Given the description of an element on the screen output the (x, y) to click on. 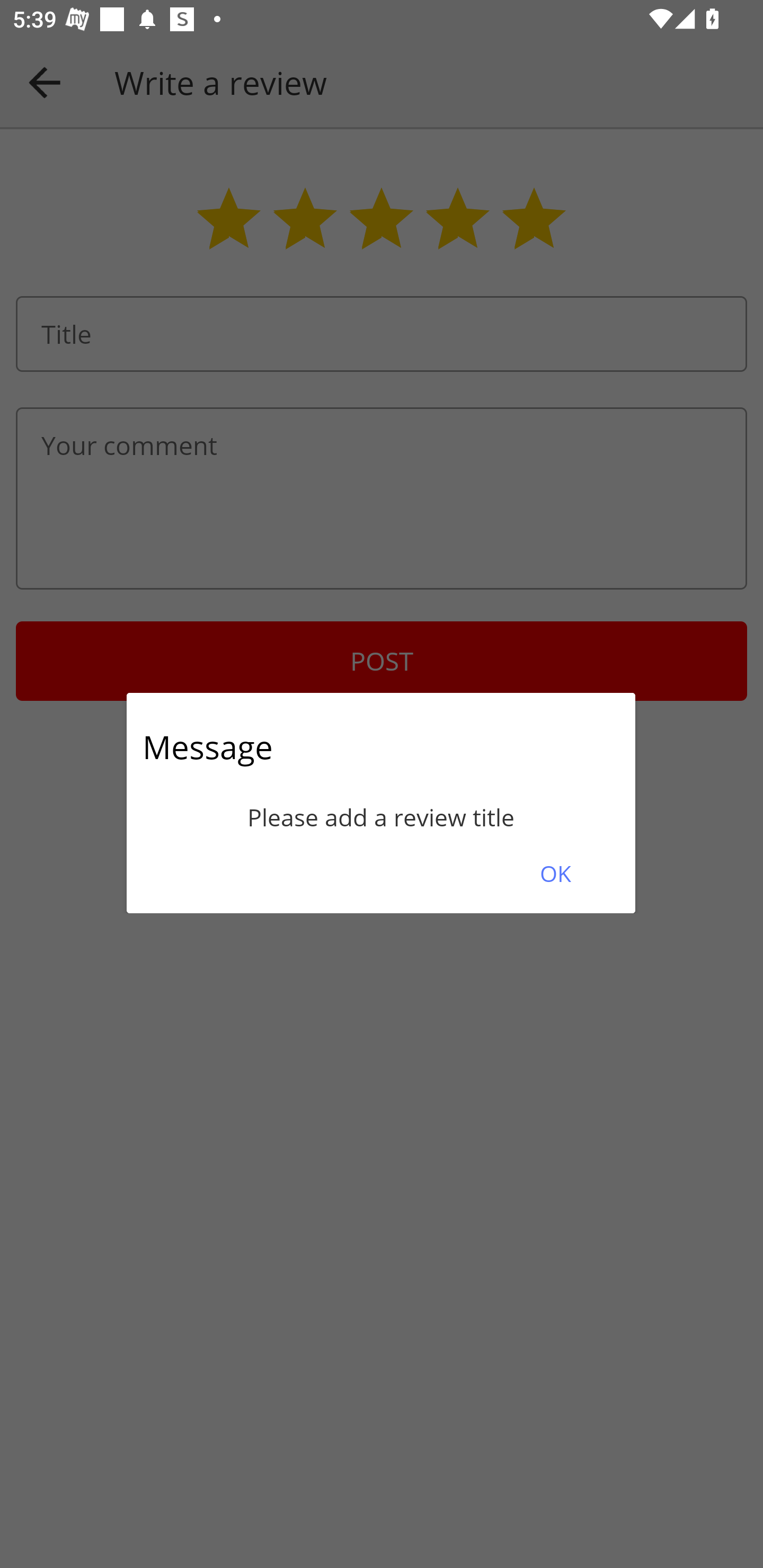
OK (555, 873)
